Given the description of an element on the screen output the (x, y) to click on. 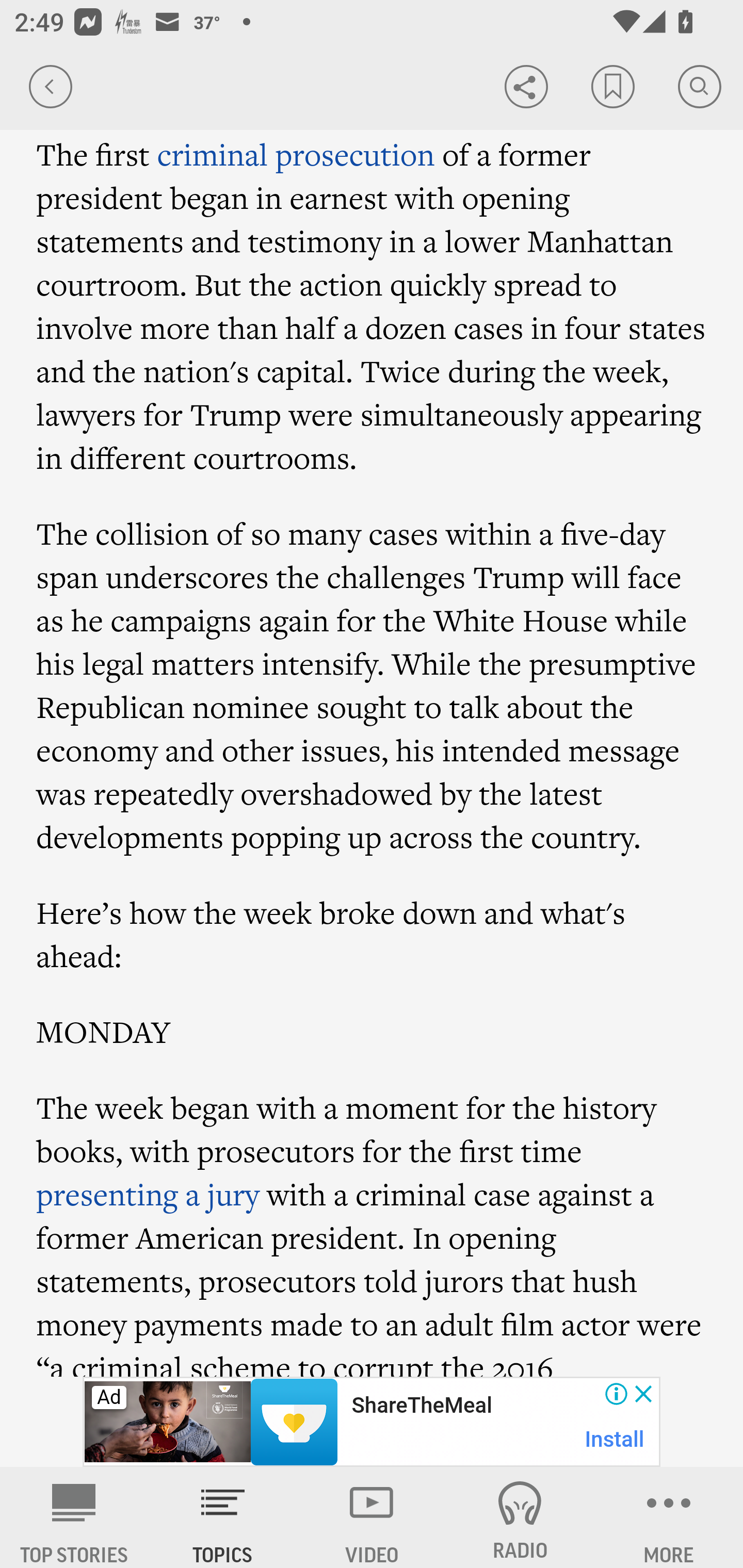
criminal prosecution (294, 154)
presenting a jury (148, 1194)
ShareTheMeal (420, 1405)
Install (614, 1438)
AP News TOP STORIES (74, 1517)
TOPICS (222, 1517)
VIDEO (371, 1517)
RADIO (519, 1517)
MORE (668, 1517)
